Given the description of an element on the screen output the (x, y) to click on. 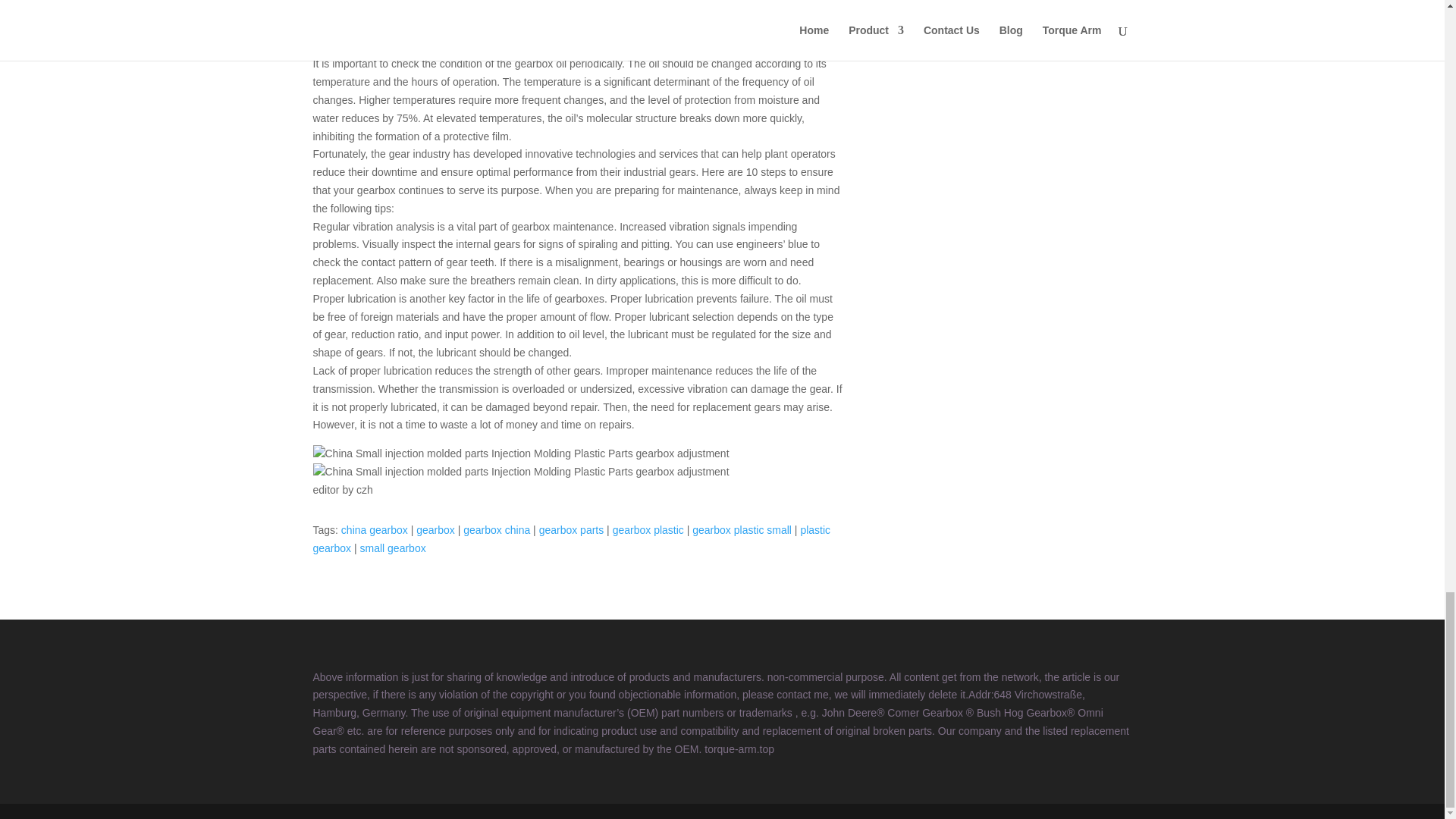
gearbox plastic small (742, 530)
gearbox plastic (648, 530)
small gearbox (392, 548)
gearbox parts (571, 530)
plastic gearbox (571, 539)
gearbox china (496, 530)
china gearbox (373, 530)
gearbox (435, 530)
